Given the description of an element on the screen output the (x, y) to click on. 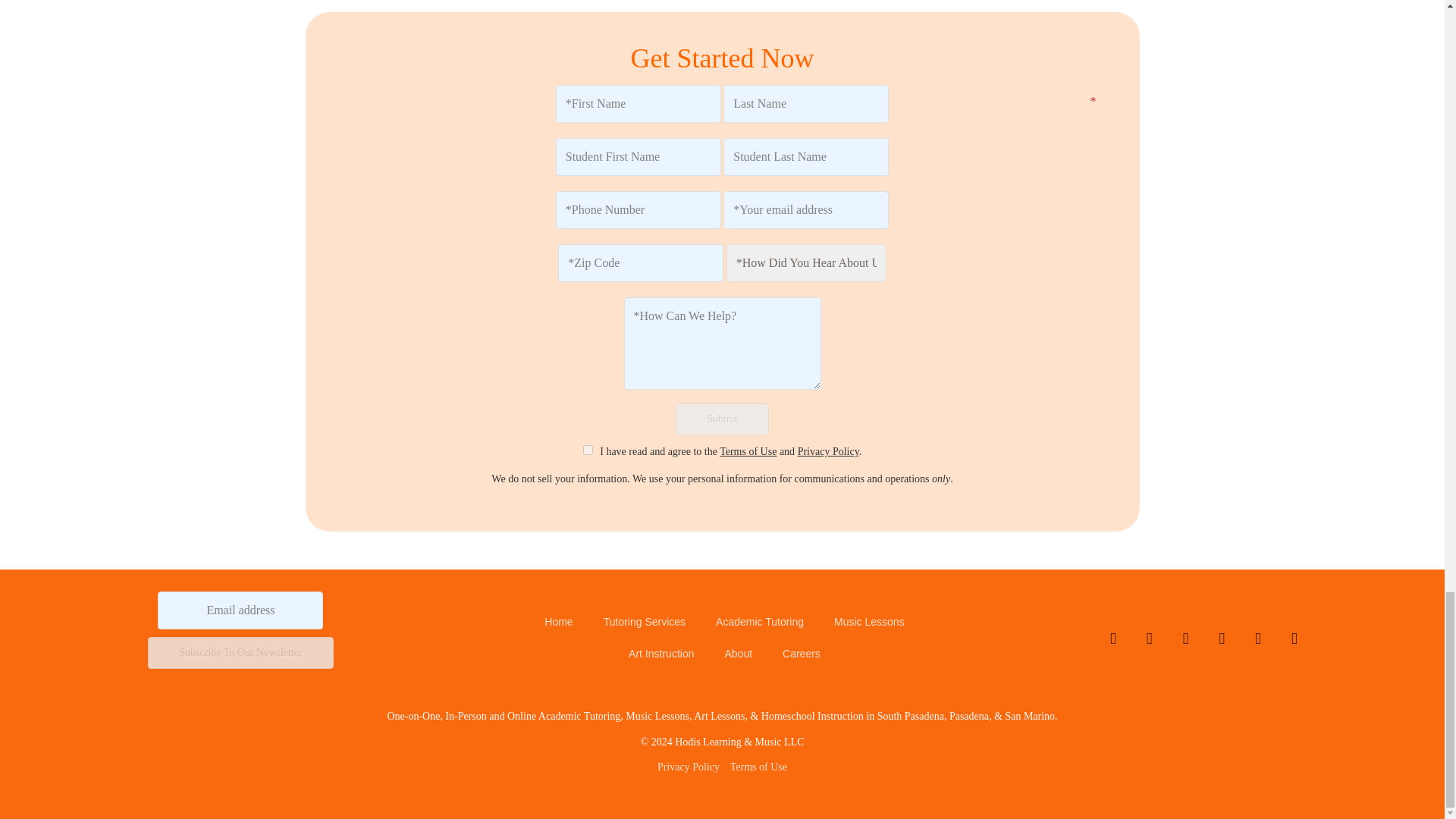
Subscribe To Our Newsletter (240, 653)
1 (587, 450)
Submit (721, 418)
